Given the description of an element on the screen output the (x, y) to click on. 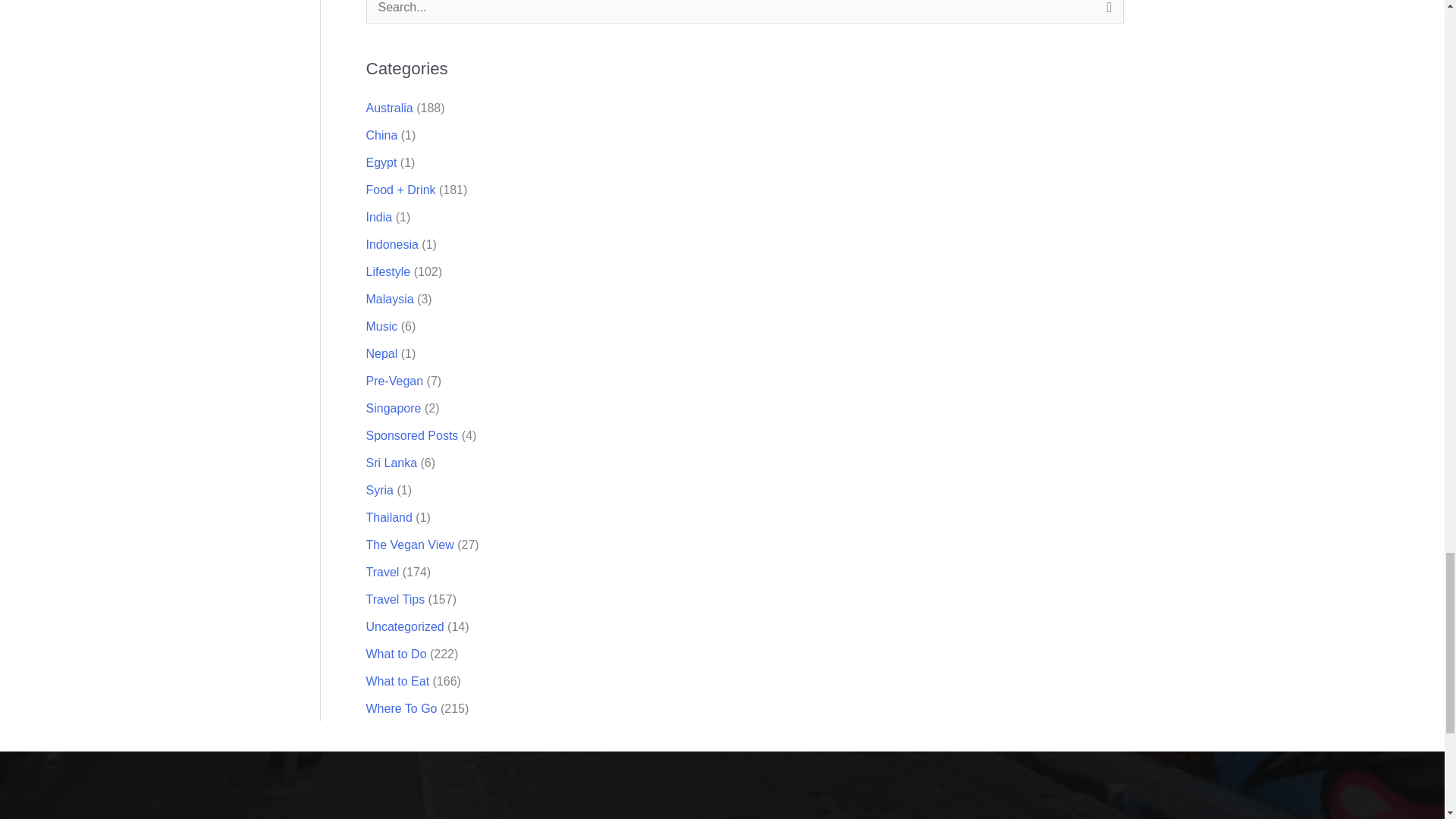
Indonesia (391, 244)
Search (1105, 16)
Search (1105, 16)
China (381, 134)
India (378, 216)
Music (381, 326)
Malaysia (389, 298)
Singapore (392, 408)
Pre-Vegan (394, 380)
Egypt (380, 162)
